Given the description of an element on the screen output the (x, y) to click on. 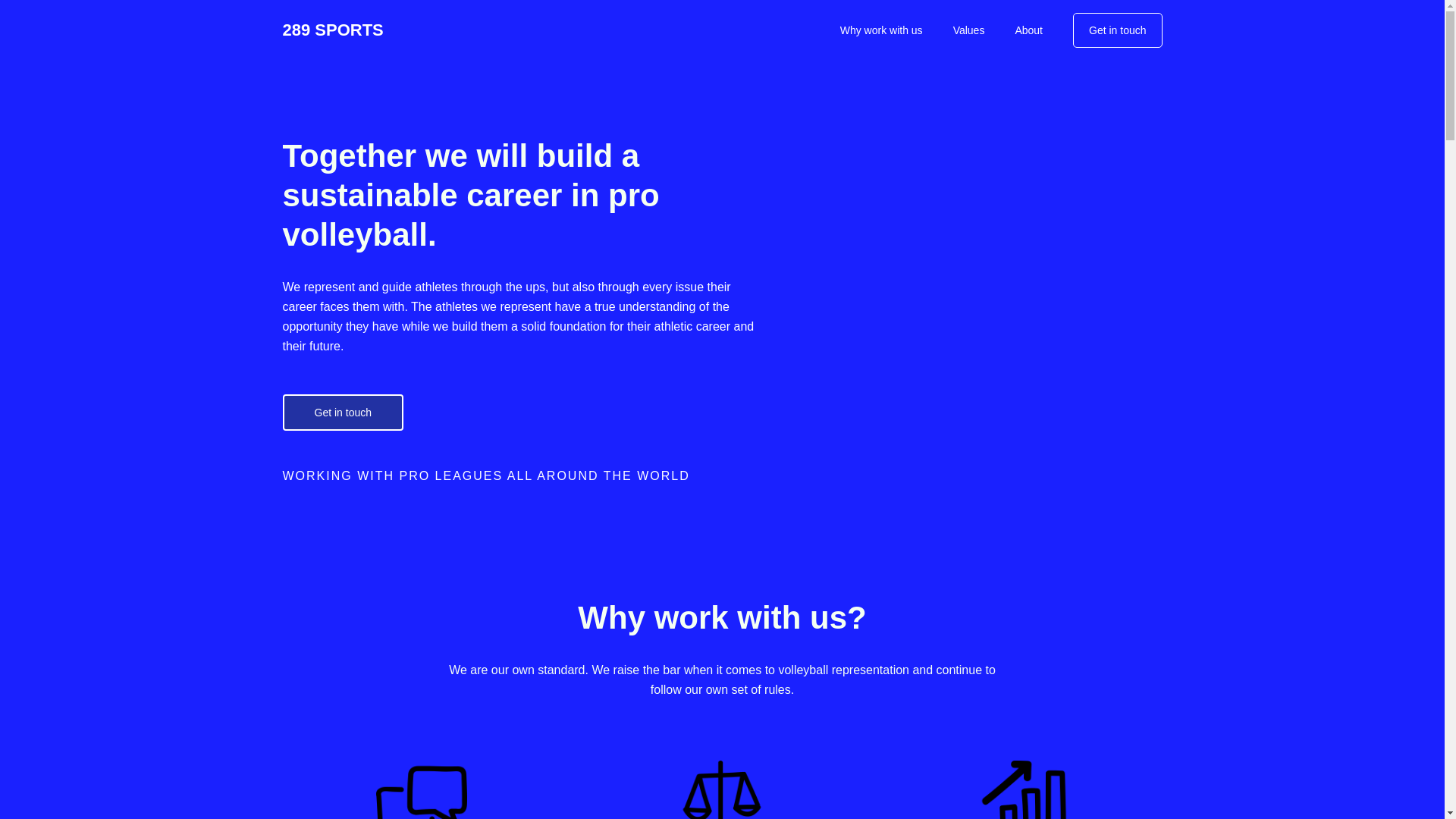
Why work with us Element type: text (881, 30)
About Element type: text (1028, 30)
Get in touch Element type: text (1117, 29)
Get in touch Element type: text (342, 412)
Values Element type: text (969, 30)
289 SPORTS Element type: text (332, 30)
